Given the description of an element on the screen output the (x, y) to click on. 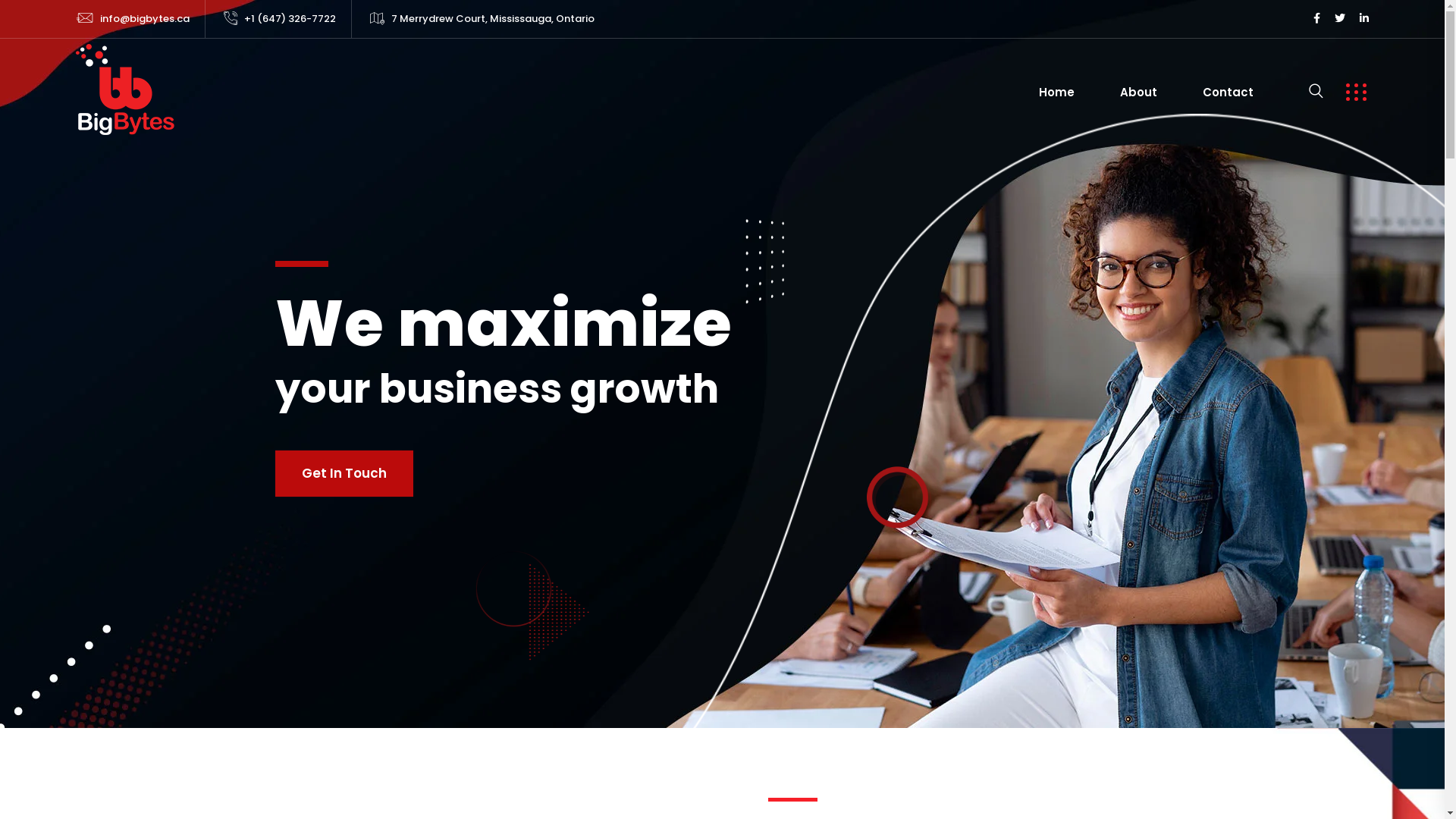
About Element type: text (1138, 92)
info@bigbytes.ca Element type: text (144, 18)
+1 (647) 326-7722 Element type: text (289, 18)
Contact Element type: text (1228, 92)
Home Element type: text (1056, 92)
